Given the description of an element on the screen output the (x, y) to click on. 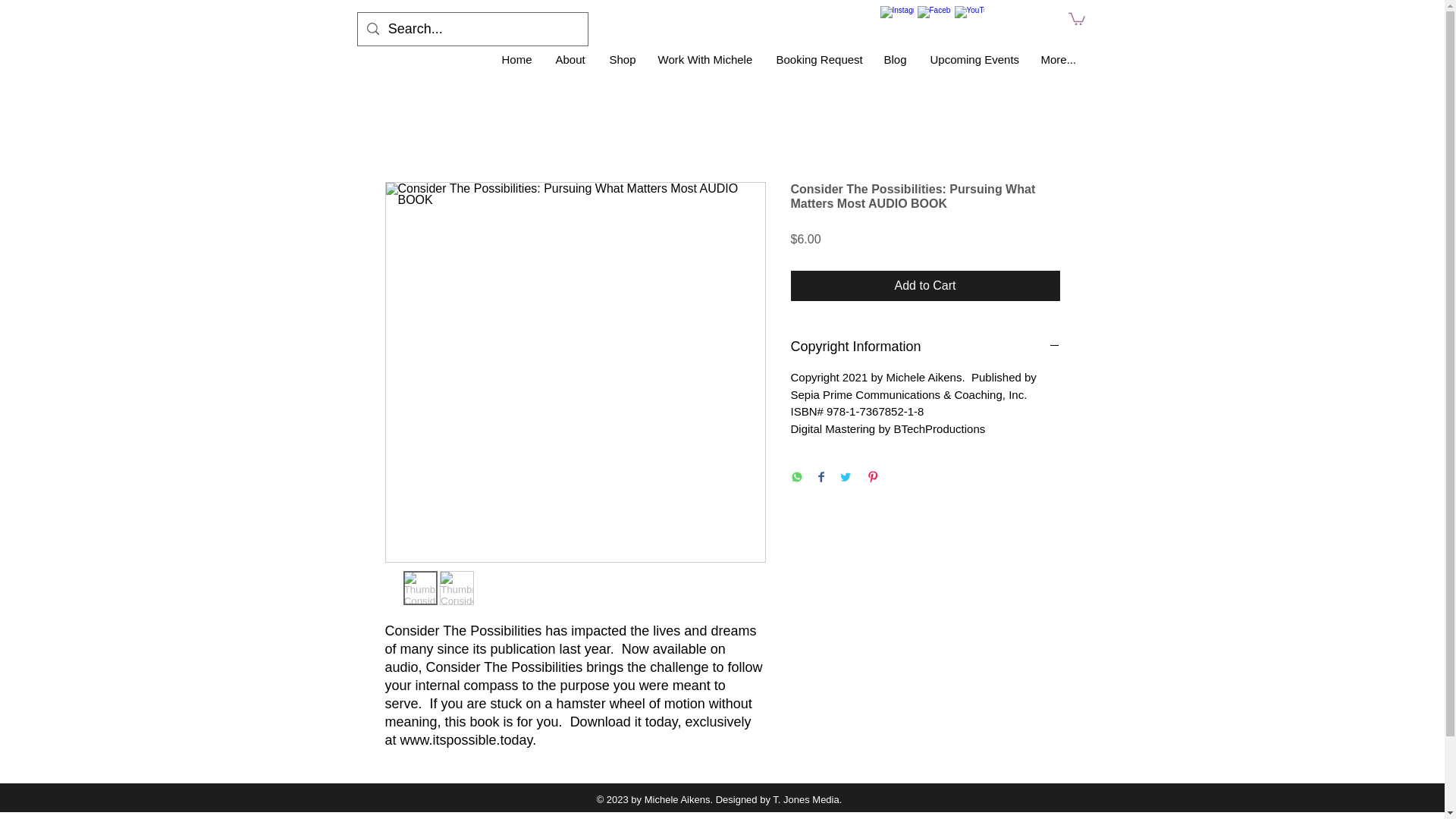
Designed by T. Jones Media. (779, 799)
Work With Michele (705, 59)
Copyright Information (924, 346)
Home (516, 59)
Shop (621, 59)
About (571, 59)
Blog (895, 59)
Add to Cart (924, 286)
Upcoming Events (973, 59)
Booking Request (818, 59)
